Given the description of an element on the screen output the (x, y) to click on. 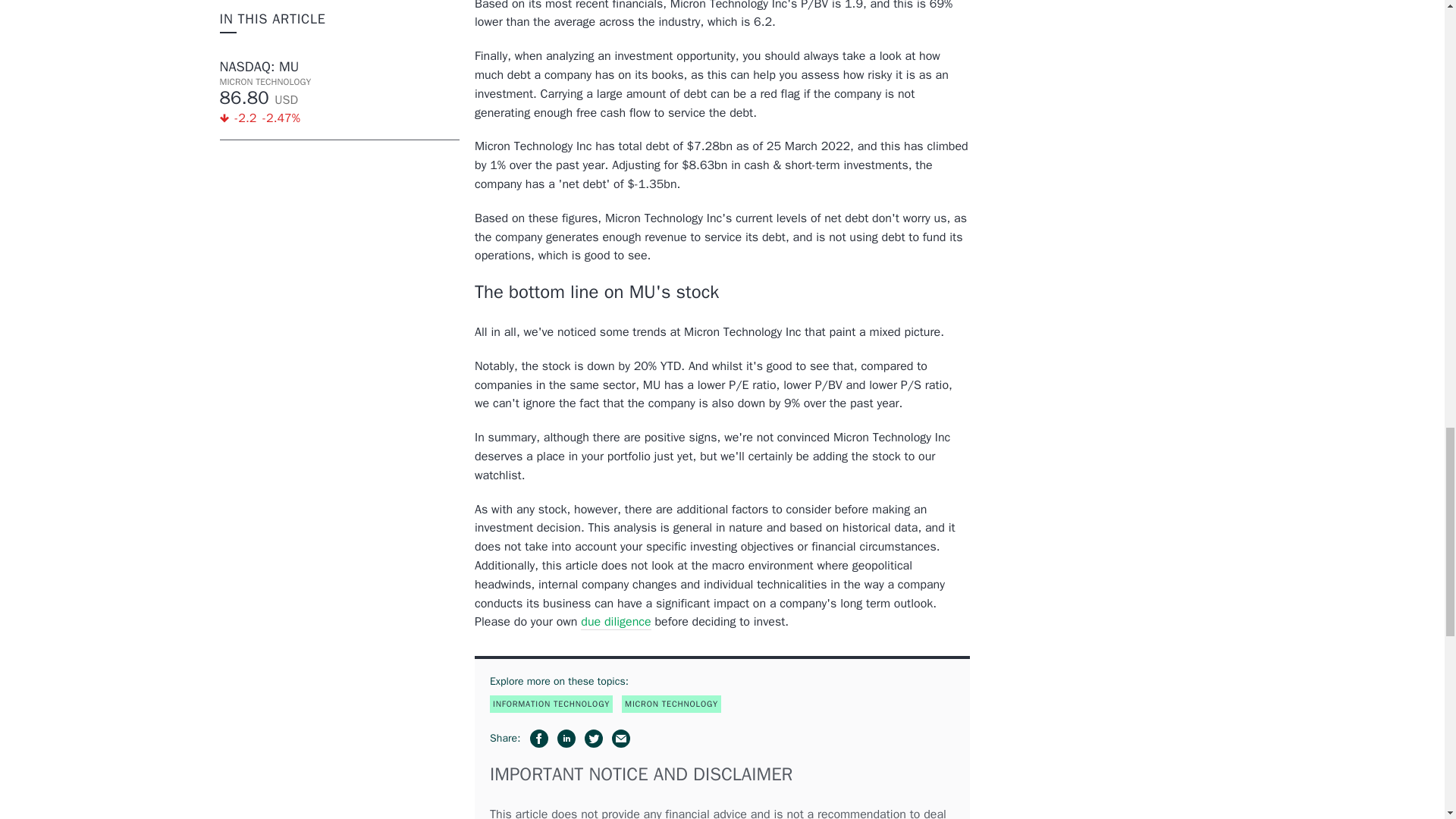
INFORMATION TECHNOLOGY (550, 703)
due diligence (615, 621)
MICRON TECHNOLOGY (670, 703)
